Given the description of an element on the screen output the (x, y) to click on. 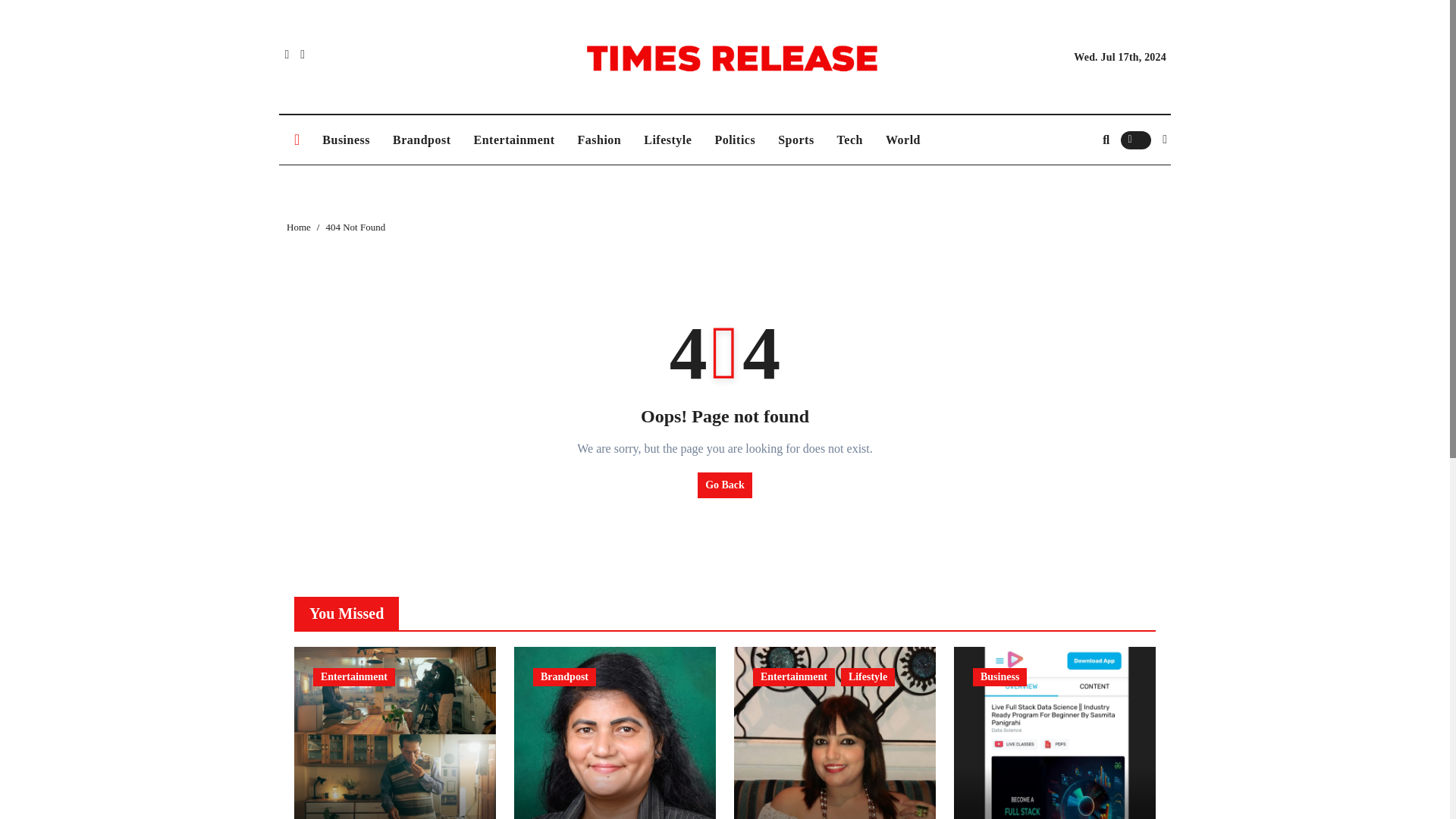
World (903, 139)
Lifestyle (667, 139)
Tech (850, 139)
Tech (850, 139)
Entertainment (514, 139)
Fashion (598, 139)
Fashion (598, 139)
Entertainment (514, 139)
Business (346, 139)
World (903, 139)
Home (298, 226)
Business (346, 139)
Lifestyle (868, 677)
Sports (796, 139)
Sports (796, 139)
